Given the description of an element on the screen output the (x, y) to click on. 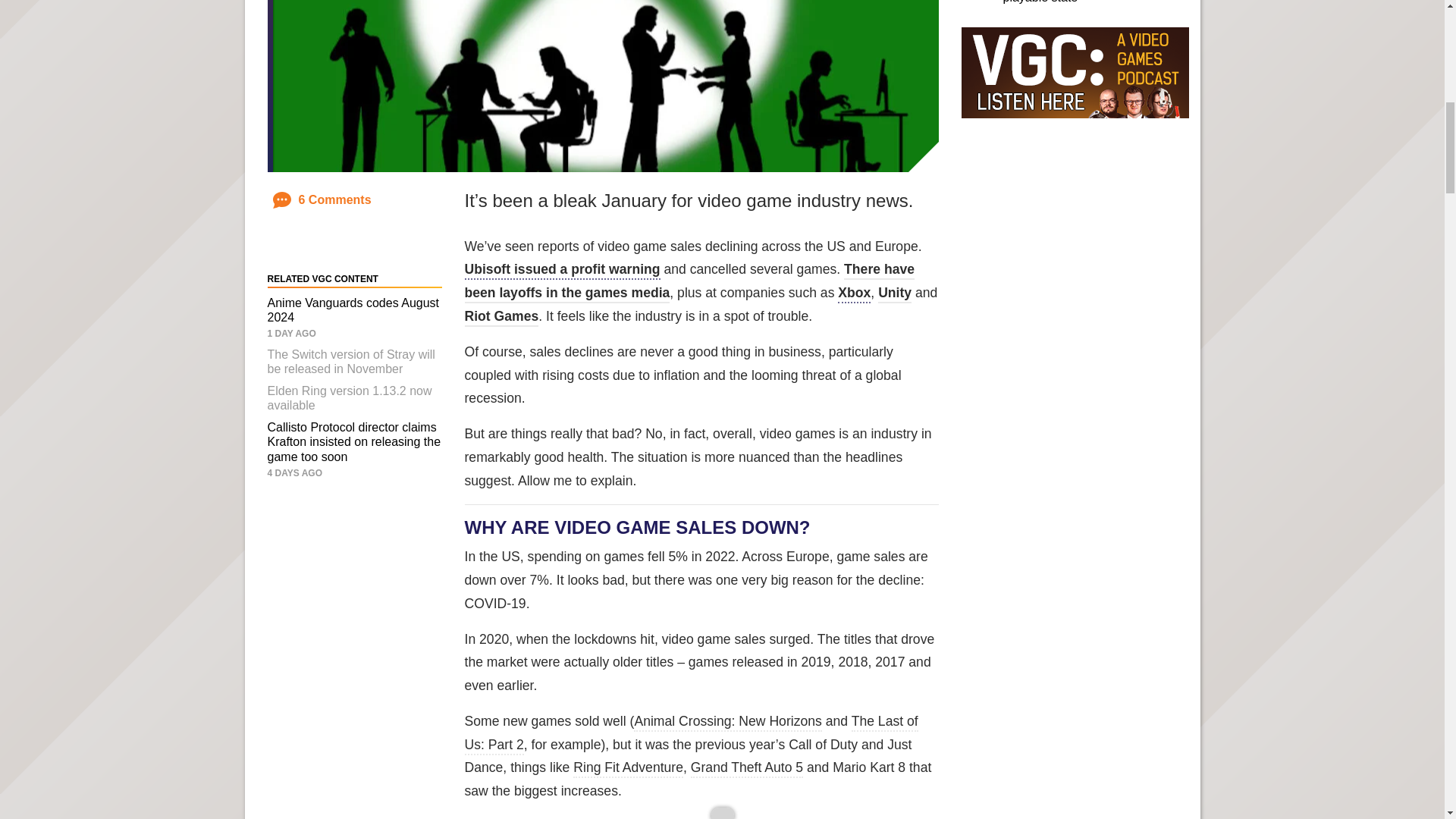
Ubisoft issued a profit warning (561, 270)
The Last of Us: Part 2 (690, 734)
Unity (894, 294)
Xbox (854, 294)
Ring Fit Adventure (627, 769)
There have been layoffs in the games media (689, 282)
Animal Crossing: New Horizons (727, 722)
Riot Games (501, 317)
Grand Theft Auto 5 (746, 769)
